Given the description of an element on the screen output the (x, y) to click on. 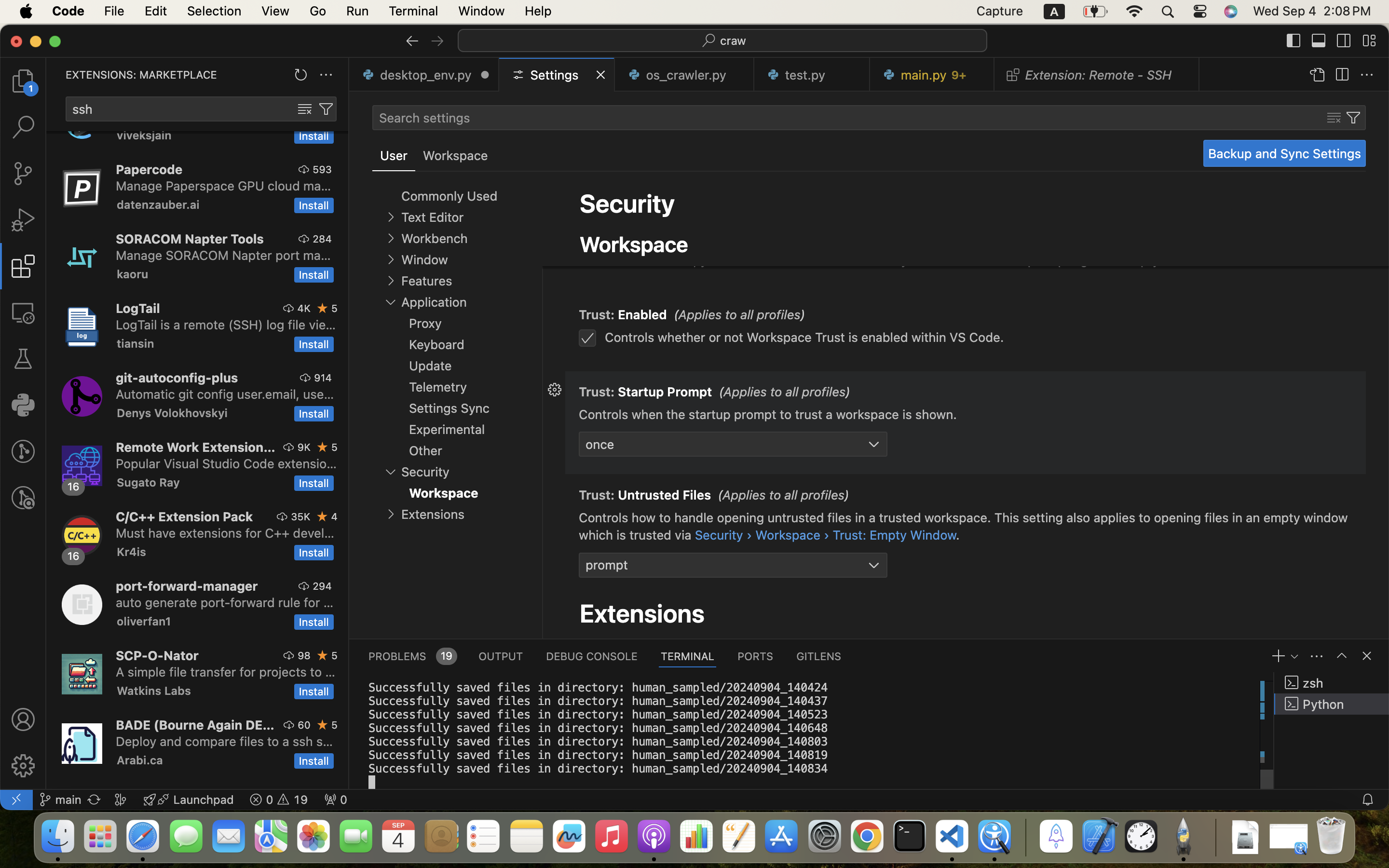
A simple file transfer for projects to and from servers suporting scp (ssh file transfer). Element type: AXStaticText (225, 671)
0 Extension: Remote - SSH   Element type: AXRadioButton (1096, 74)
19 0   Element type: AXButton (278, 799)
 Element type: AXCheckBox (1318, 40)
git-autoconfig-plus Element type: AXStaticText (176, 377)
